Given the description of an element on the screen output the (x, y) to click on. 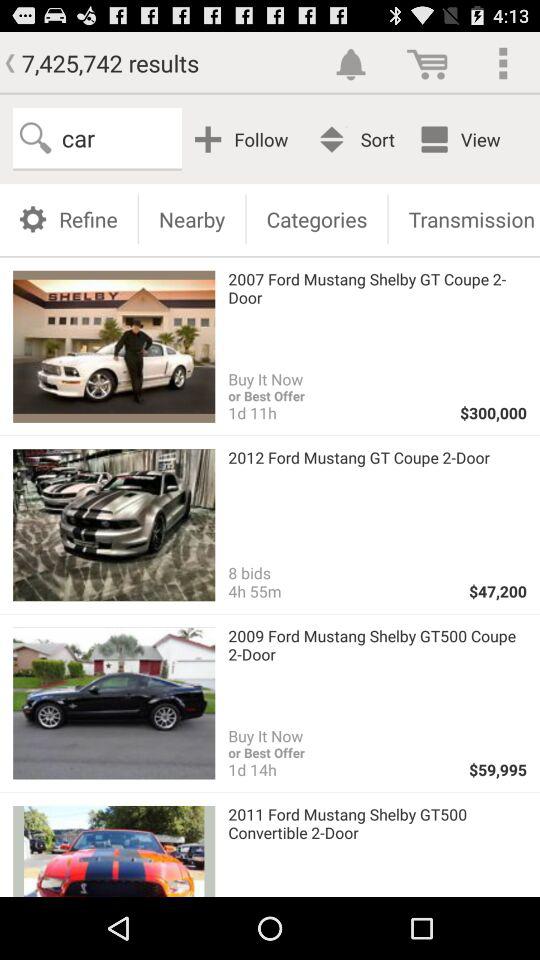
click the item to the left of best match app (244, 138)
